Given the description of an element on the screen output the (x, y) to click on. 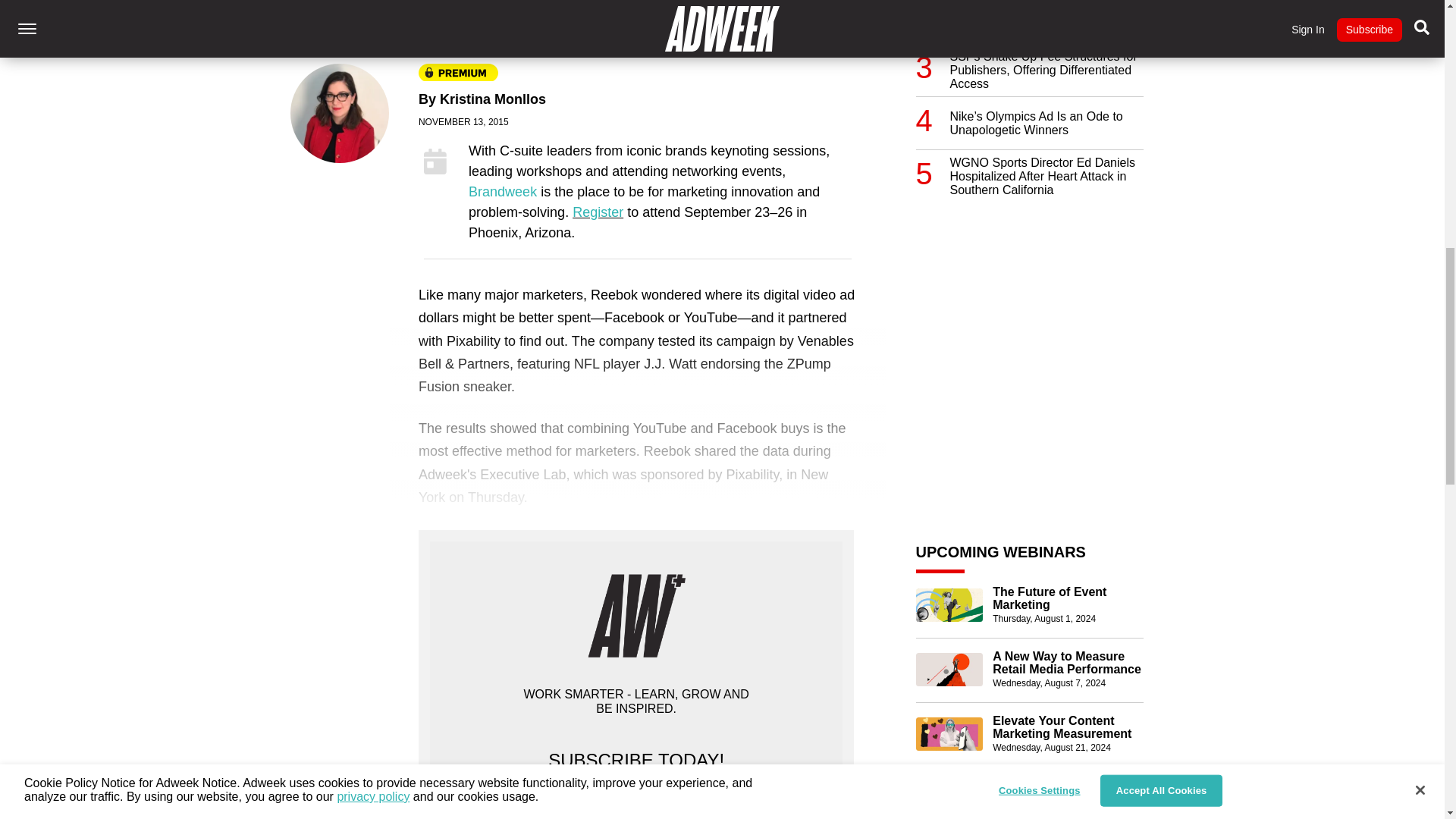
jj-watt-reebok-hed-2015.png (587, 13)
headshotkristina (339, 113)
Adobe-Webinar-082224-Header (948, 798)
CventWebinar08012Header (948, 604)
Stackline-Webinar-080724-Header (948, 669)
3rd party ad content (1028, 309)
Kristina Monllos (492, 99)
Nativo-Webinar-082124-Header (948, 734)
Register (597, 212)
